Given the description of an element on the screen output the (x, y) to click on. 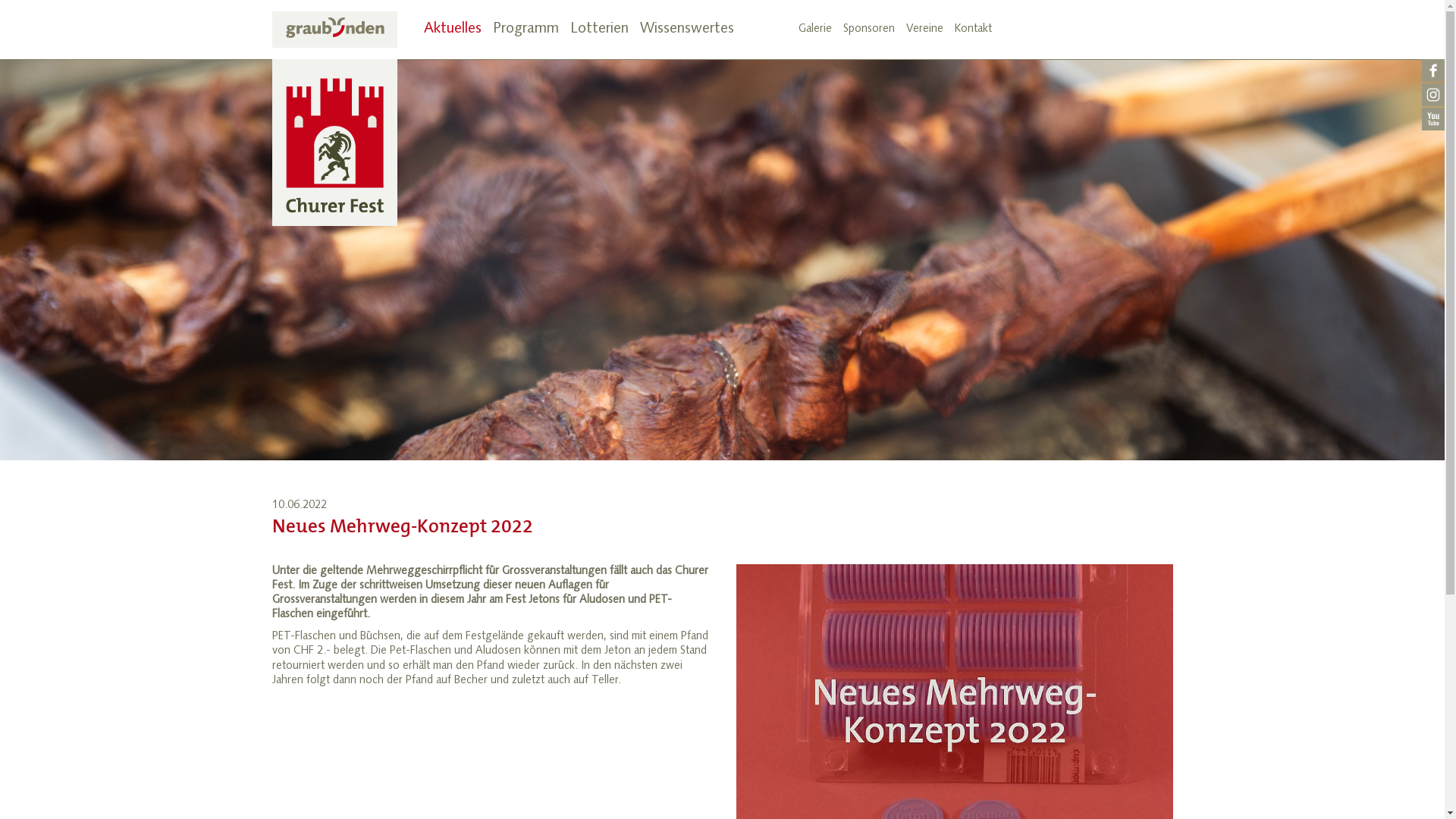
Vereine Element type: text (923, 29)
Folge uns auf Instagram Element type: hover (1432, 95)
Aktuelles Element type: text (451, 29)
Startseite Element type: hover (333, 118)
Kontakt Element type: text (972, 29)
Wissenswertes Element type: text (687, 29)
Werde ein Fan auf Facebook Element type: hover (1432, 71)
Lotterien Element type: text (599, 29)
Sponsoren Element type: text (868, 29)
Galerie Element type: text (814, 29)
zu unserem YouTube-Kanal Element type: hover (1432, 119)
Programm Element type: text (525, 29)
